Given the description of an element on the screen output the (x, y) to click on. 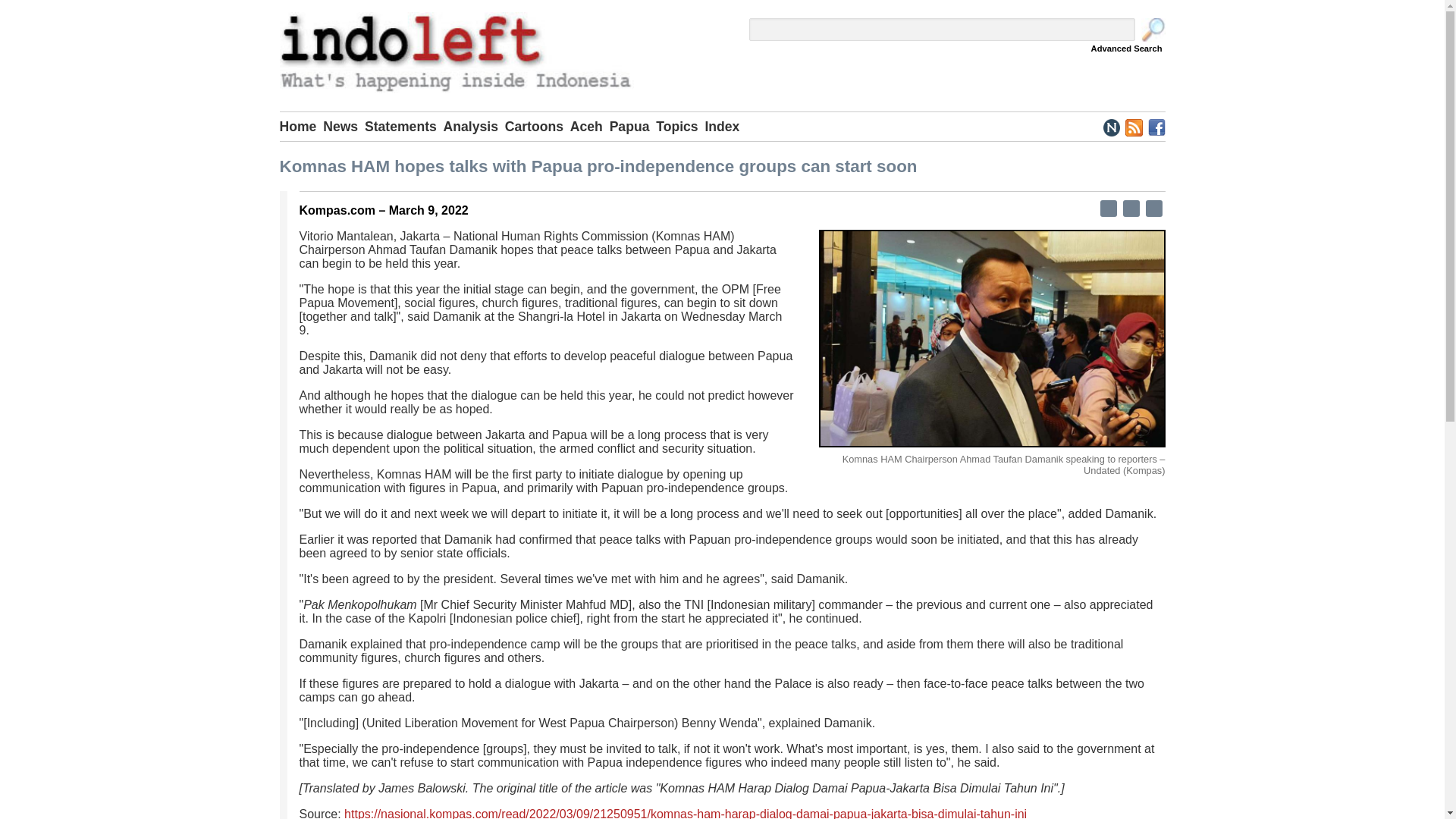
Facebook (1107, 208)
Aceh (590, 126)
Home (301, 126)
Index (724, 126)
Twitter (1130, 208)
Cartoons (537, 126)
RSS News Feeds (1133, 126)
Find us on Facebook (1156, 126)
Search (1152, 30)
Enter the terms you wish to search for. (942, 29)
Search this site (1152, 30)
News (344, 126)
Statements (404, 126)
Analysis (474, 126)
